Given the description of an element on the screen output the (x, y) to click on. 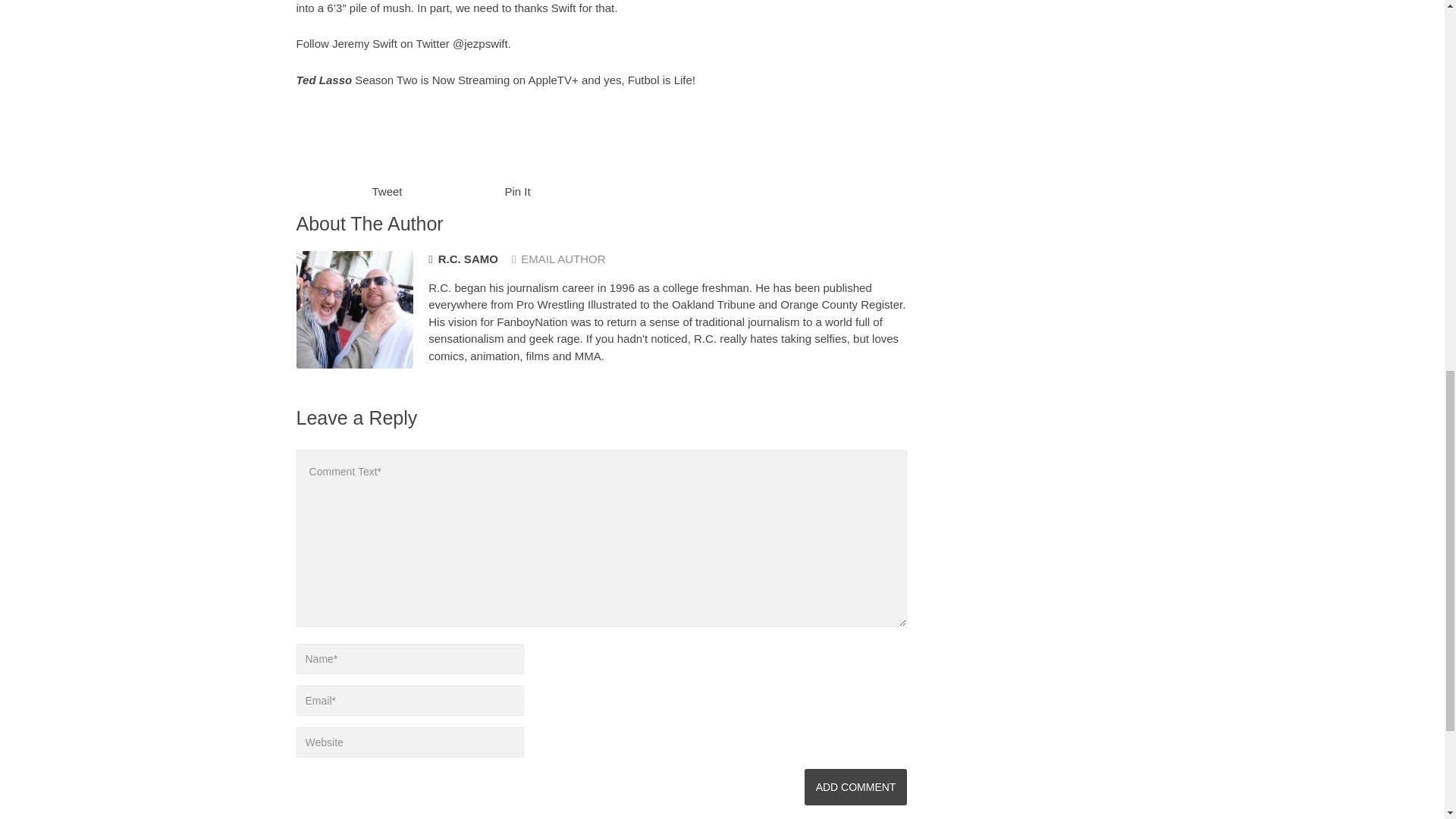
Add Comment (856, 787)
Pin It (518, 191)
Add Comment (856, 787)
Tweet (386, 191)
R.C. SAMO (462, 259)
EMAIL AUTHOR (558, 258)
